Given the description of an element on the screen output the (x, y) to click on. 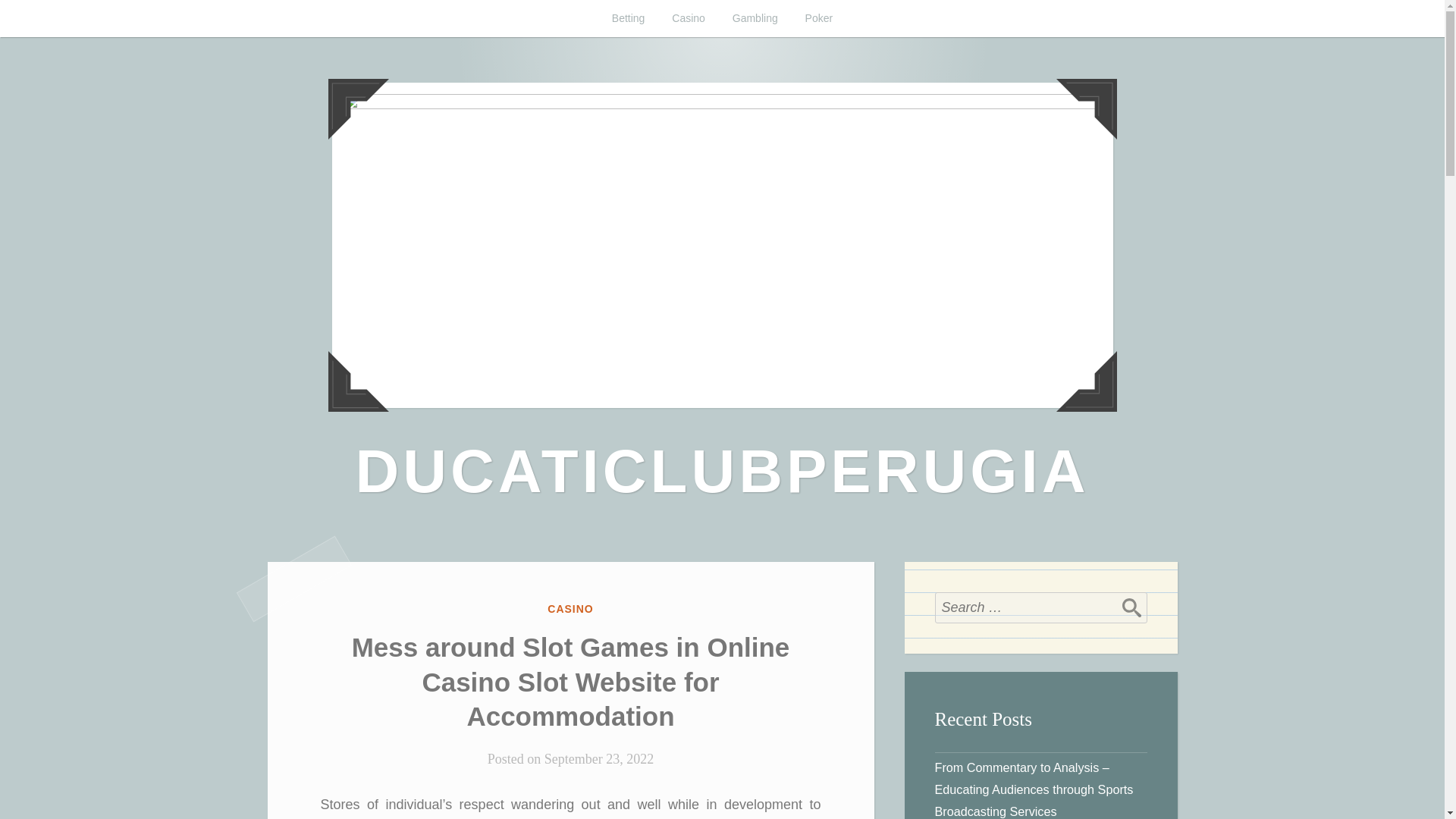
Gambling (755, 18)
September 23, 2022 (598, 758)
DUCATICLUBPERUGIA (722, 471)
Search (1131, 607)
CASINO (569, 608)
Casino (688, 18)
Search (1131, 607)
Search (1131, 607)
Poker (819, 18)
Betting (628, 18)
